Given the description of an element on the screen output the (x, y) to click on. 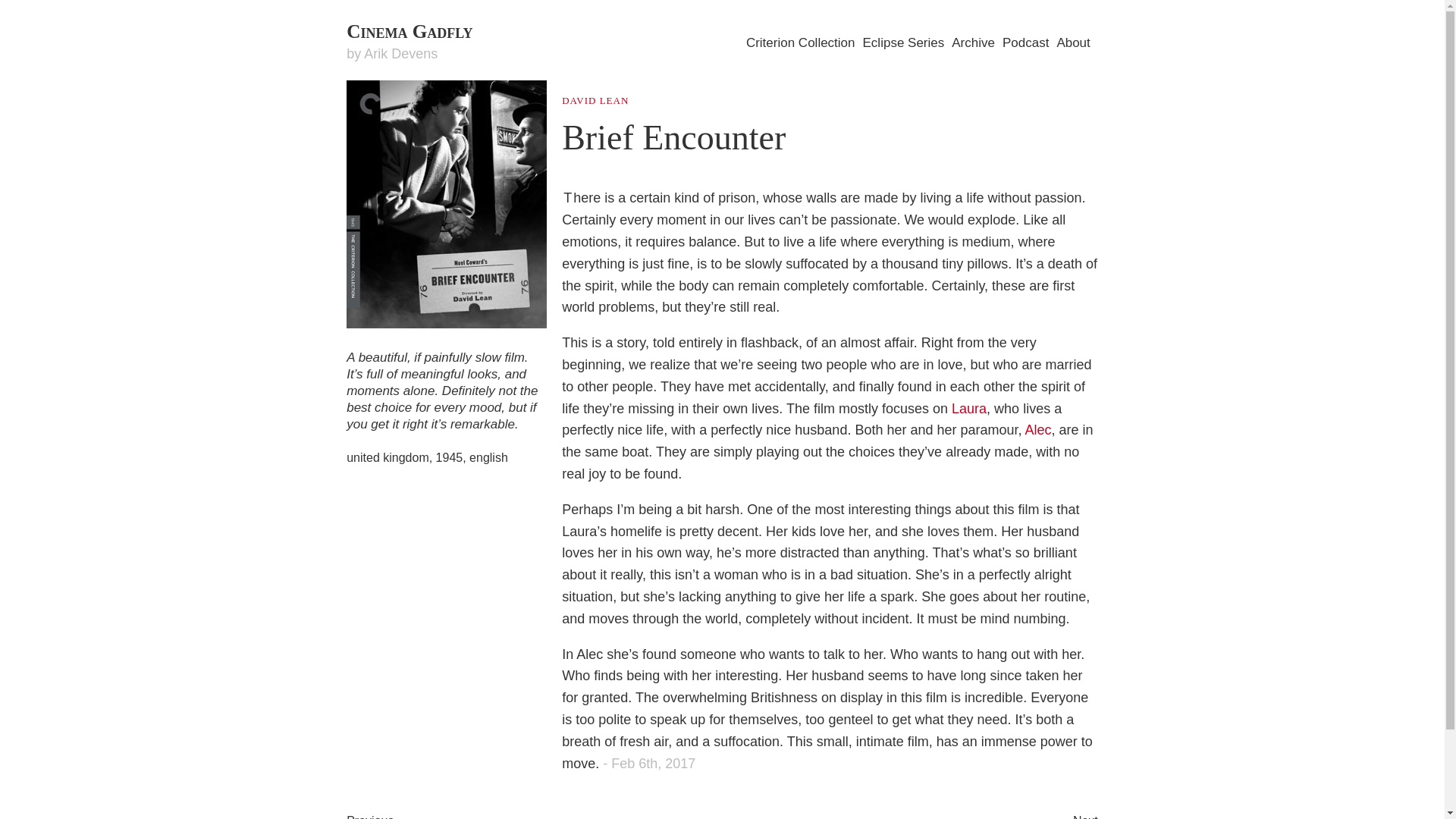
DAVID LEAN (595, 100)
Previous (369, 814)
1945 (449, 457)
united kingdom (387, 457)
english (488, 457)
Cinema Gadfly (408, 31)
